Given the description of an element on the screen output the (x, y) to click on. 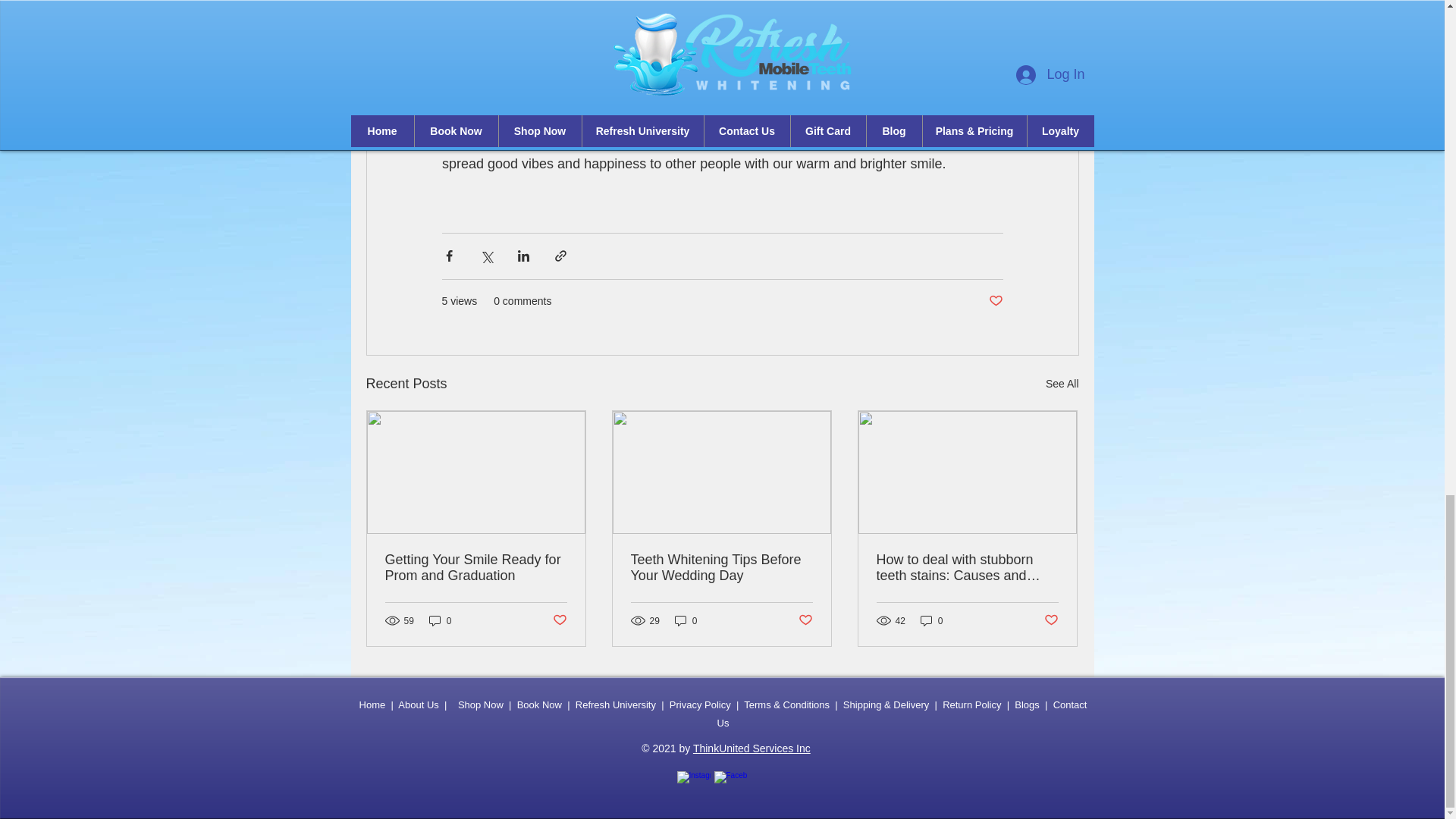
Teeth Whitening Tips Before Your Wedding Day (721, 567)
Getting Your Smile Ready for Prom and Graduation (476, 567)
Shop Now (480, 704)
Post not marked as liked (1050, 620)
Book Now (539, 704)
Home (372, 704)
Post not marked as liked (804, 620)
How to deal with stubborn teeth stains: Causes and Treatment (967, 567)
Post not marked as liked (995, 301)
See All (1061, 383)
0 (931, 620)
0 (685, 620)
About Us (417, 704)
0 (440, 620)
Post not marked as liked (558, 620)
